Given the description of an element on the screen output the (x, y) to click on. 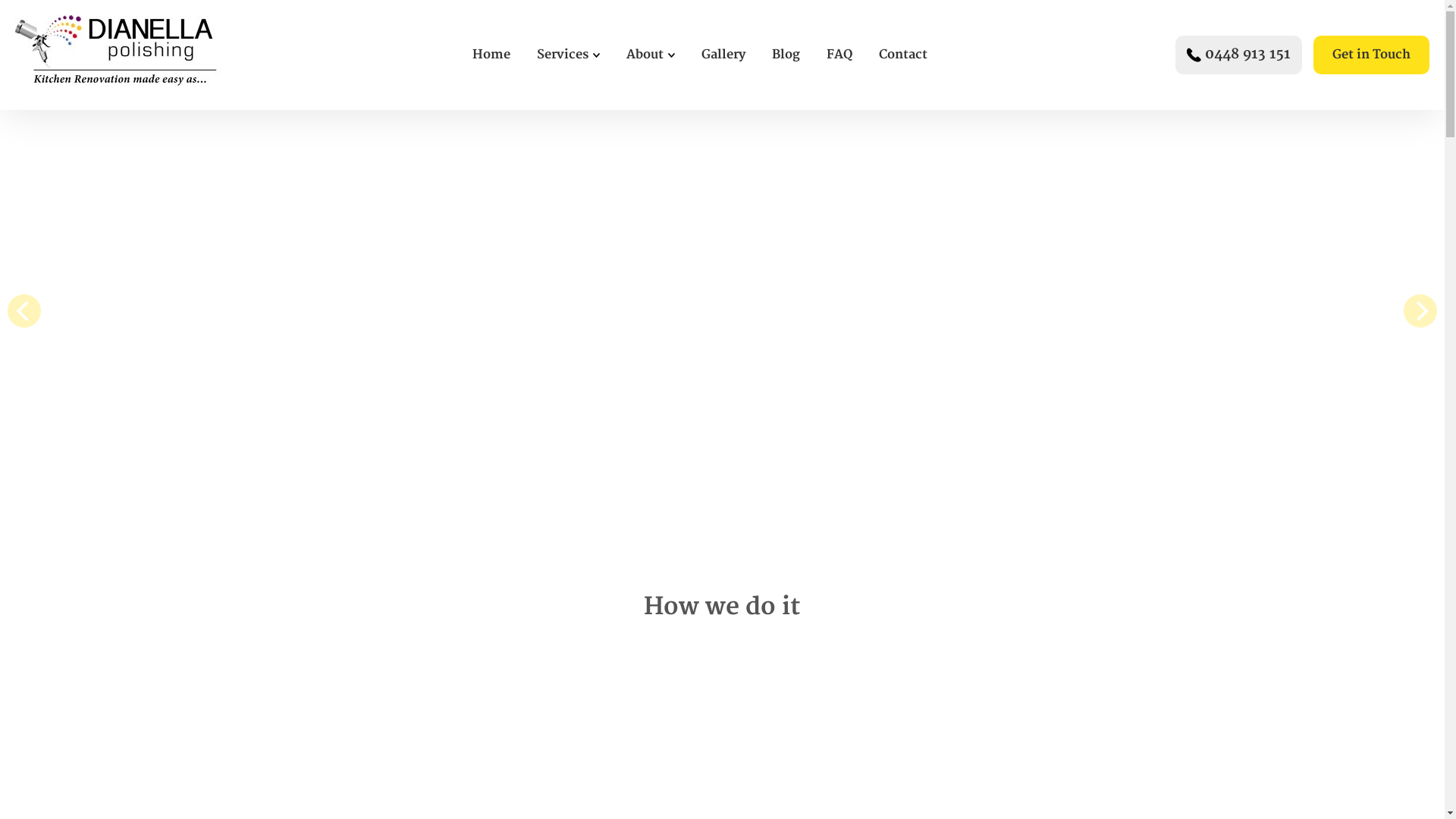
Gallery Element type: text (723, 54)
Blog Element type: text (785, 54)
FAQ Element type: text (839, 54)
Home Element type: text (491, 54)
About Element type: text (644, 54)
Contact Element type: text (902, 54)
Services Element type: text (562, 54)
Get in Touch Element type: text (1371, 54)
0448 913 151 Element type: text (1247, 54)
